Given the description of an element on the screen output the (x, y) to click on. 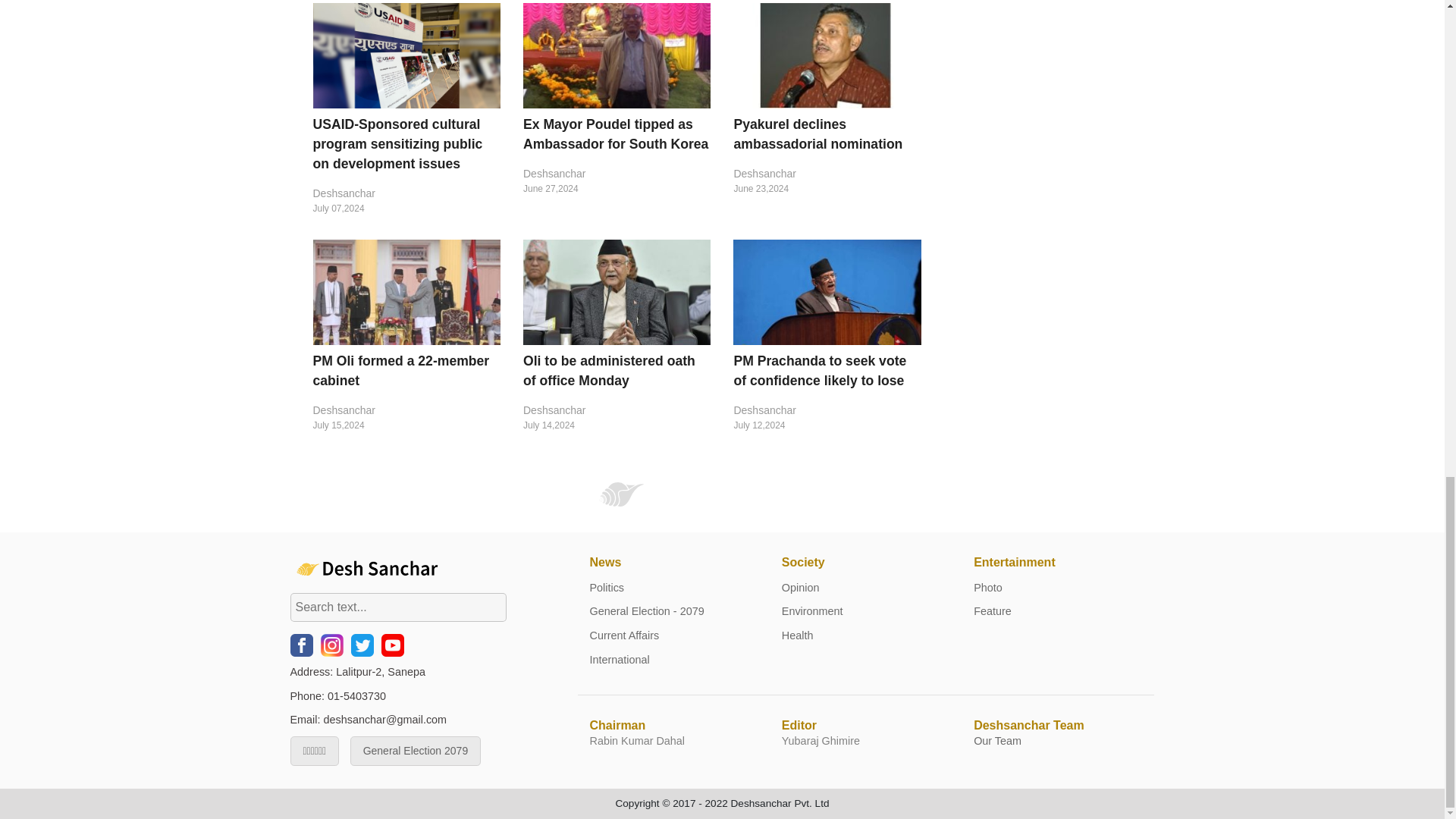
Ex Mayor Poudel tipped as Ambassador for South Korea (614, 134)
Pyakurel declines ambassadorial nomination (817, 134)
June 27,2024 (616, 188)
July 07,2024 (406, 208)
June 23,2024 (826, 188)
